Given the description of an element on the screen output the (x, y) to click on. 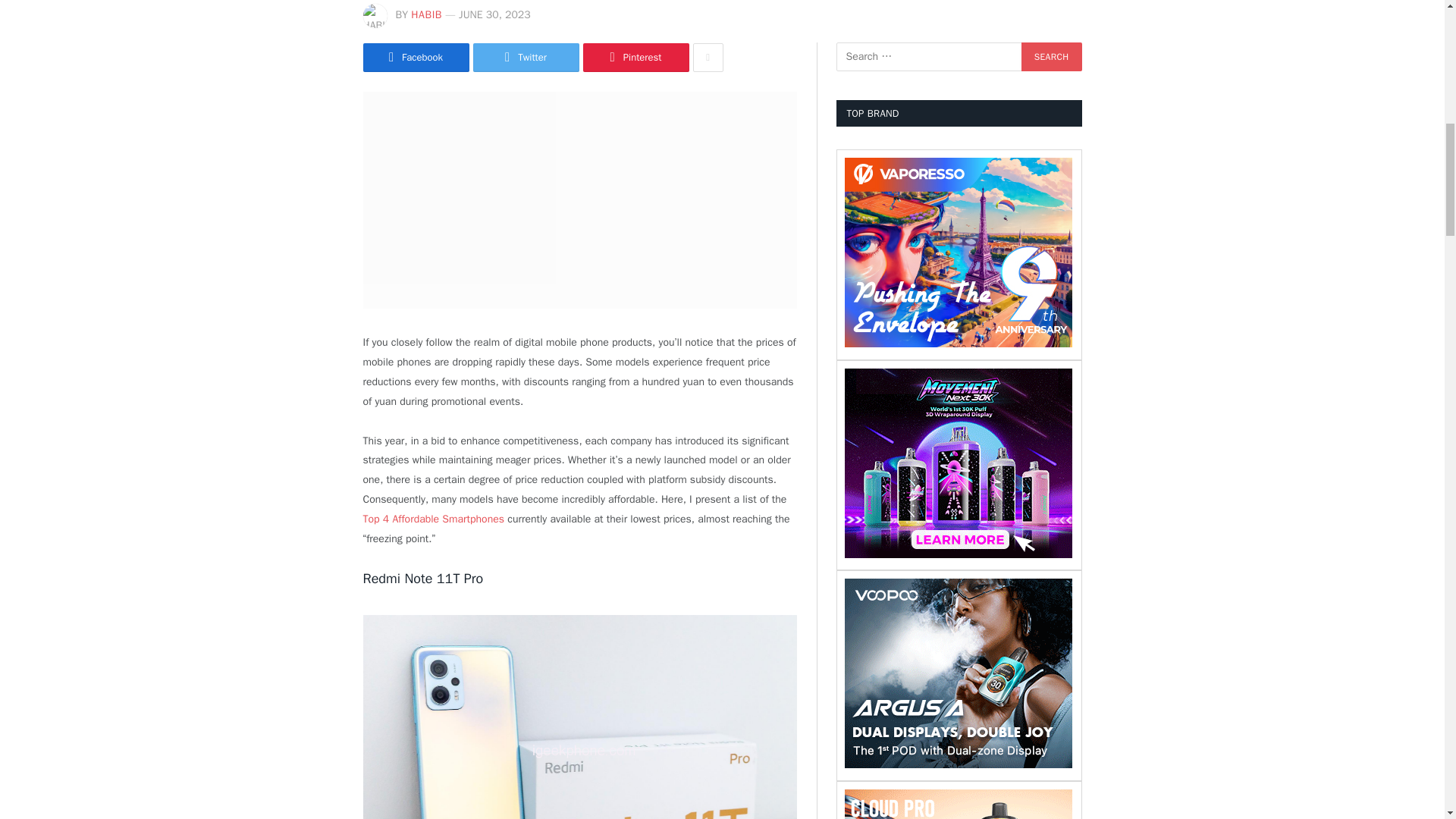
Show More Social Sharing (708, 57)
Share on Pinterest (635, 57)
Search (1051, 56)
Search (1051, 56)
Posts by Habib (426, 14)
Share on Twitter (526, 57)
Share on Facebook (415, 57)
